Given the description of an element on the screen output the (x, y) to click on. 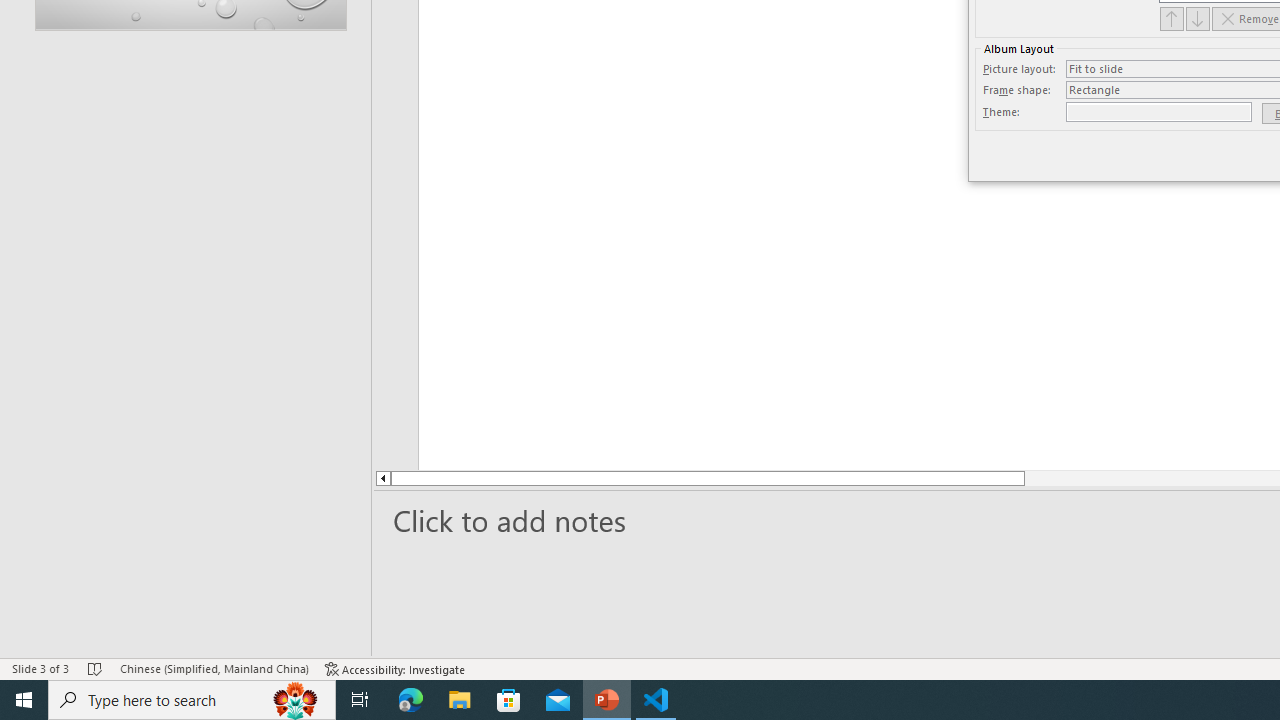
Theme (1158, 111)
Next Item (1197, 18)
Previous Item (1171, 18)
